Given the description of an element on the screen output the (x, y) to click on. 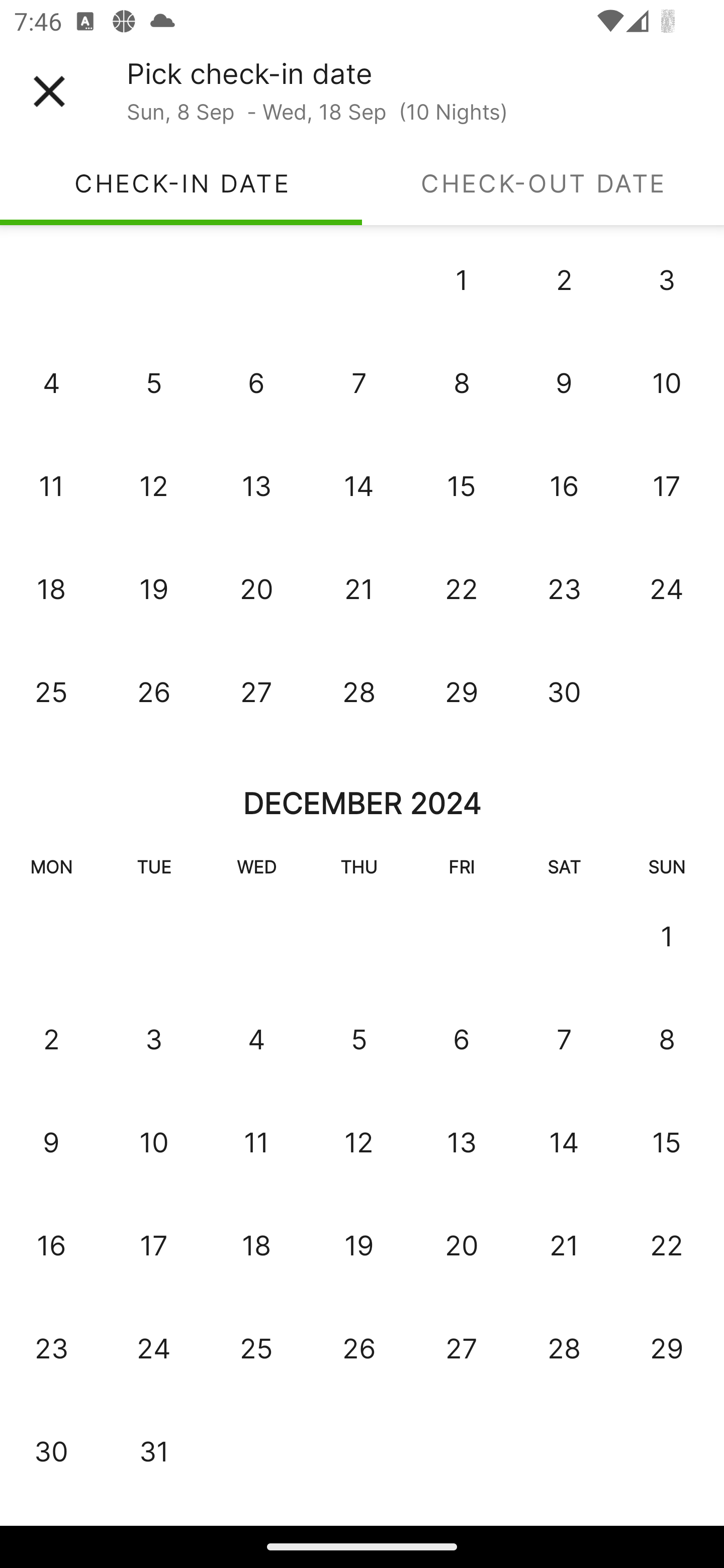
Check-out Date CHECK-OUT DATE (543, 183)
